Given the description of an element on the screen output the (x, y) to click on. 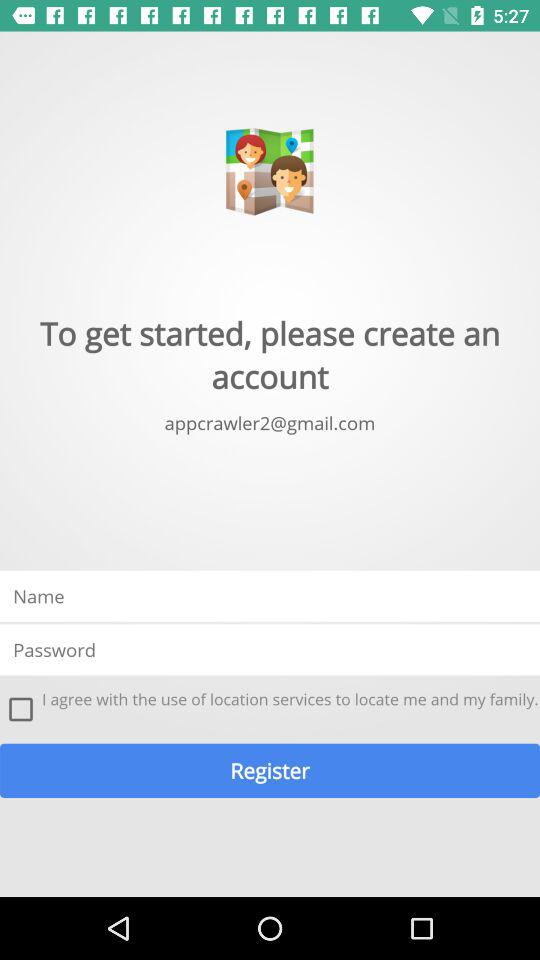
open item above the register item (21, 709)
